Given the description of an element on the screen output the (x, y) to click on. 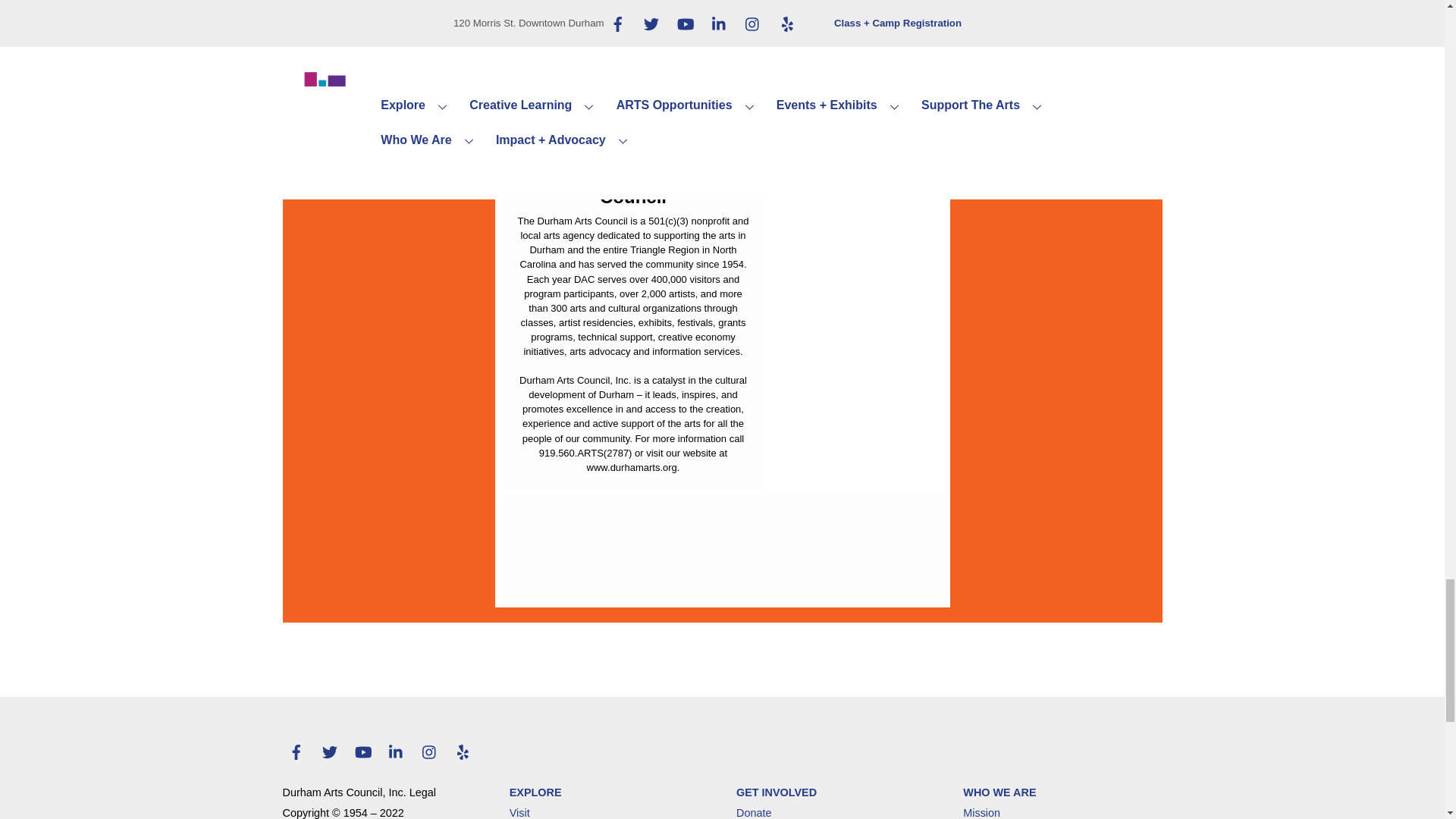
Highly Recommended by Locals On Alignable (861, 134)
